Given the description of an element on the screen output the (x, y) to click on. 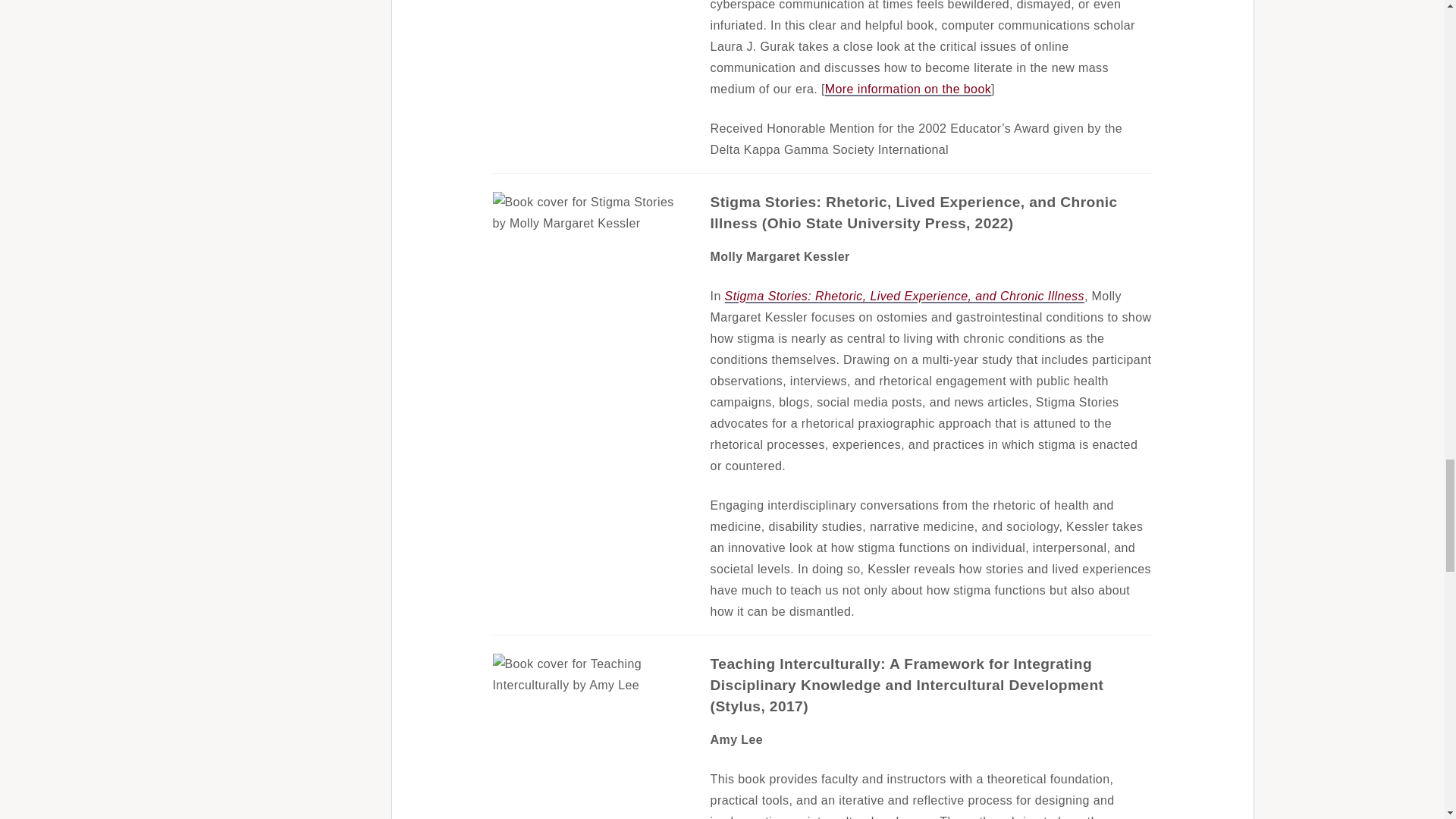
More information on the book (908, 88)
